Given the description of an element on the screen output the (x, y) to click on. 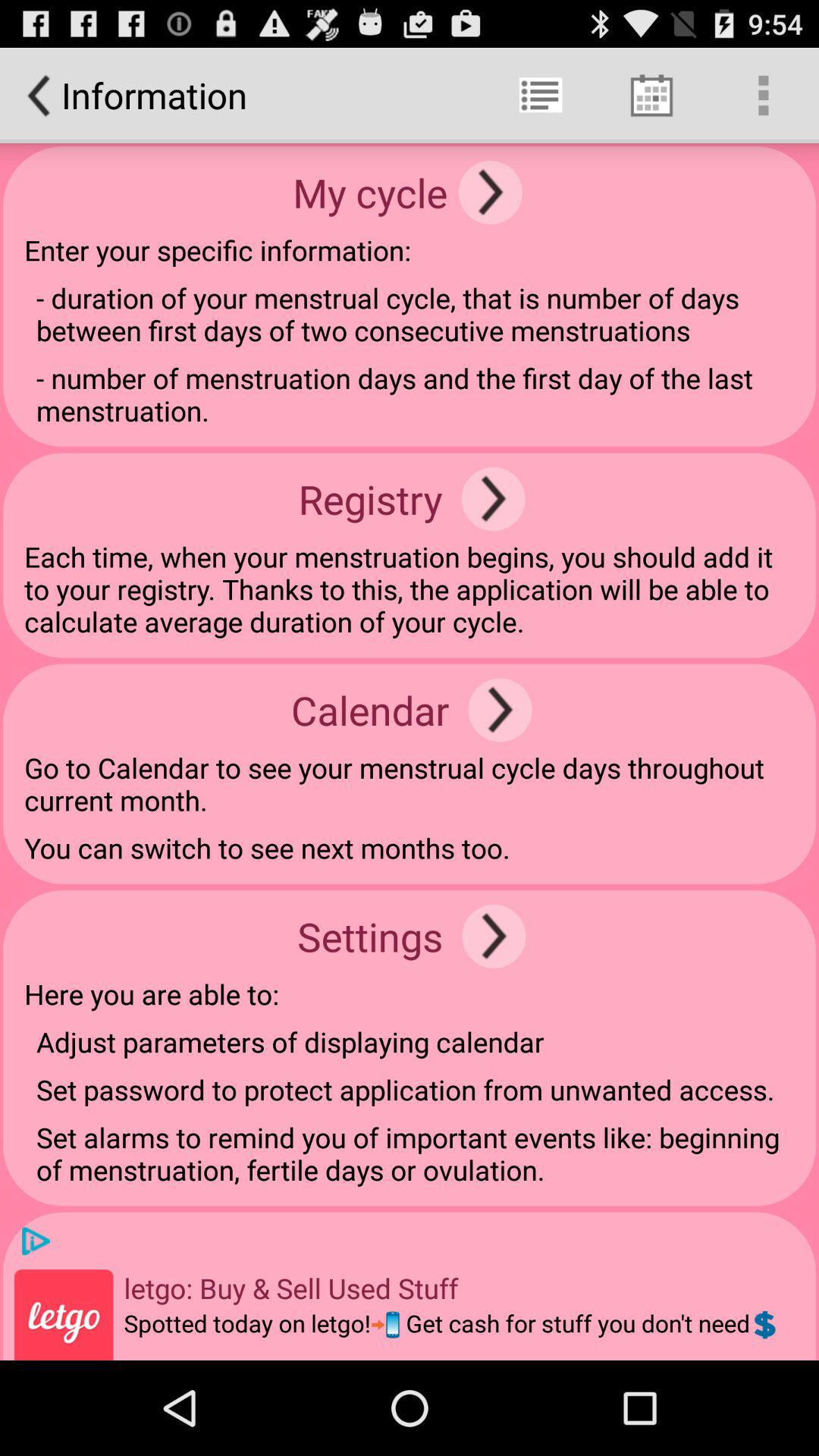
open calendar (500, 710)
